Given the description of an element on the screen output the (x, y) to click on. 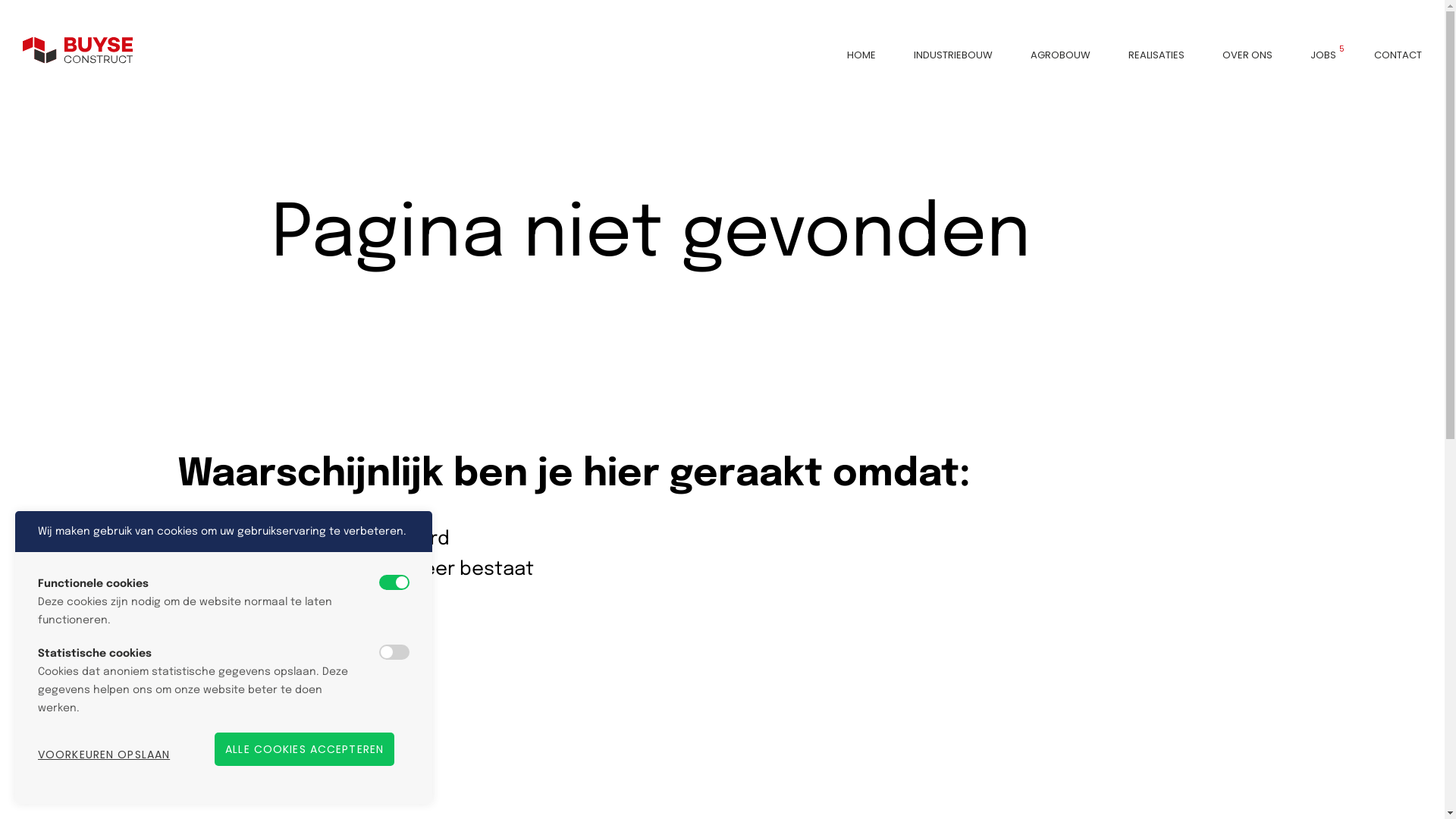
HOME Element type: text (861, 55)
ALLE COOKIES ACCEPTEREN Element type: text (304, 748)
JOBS
5 Element type: text (1323, 55)
OVER ONS Element type: text (1247, 55)
REALISATIES Element type: text (1156, 55)
AGROBOUW Element type: text (1060, 55)
INDUSTRIEBOUW Element type: text (952, 55)
VOORKEUREN OPSLAAN Element type: text (103, 755)
TERUG NAAR HOME Element type: text (248, 690)
CONTACT Element type: text (1397, 55)
